Given the description of an element on the screen output the (x, y) to click on. 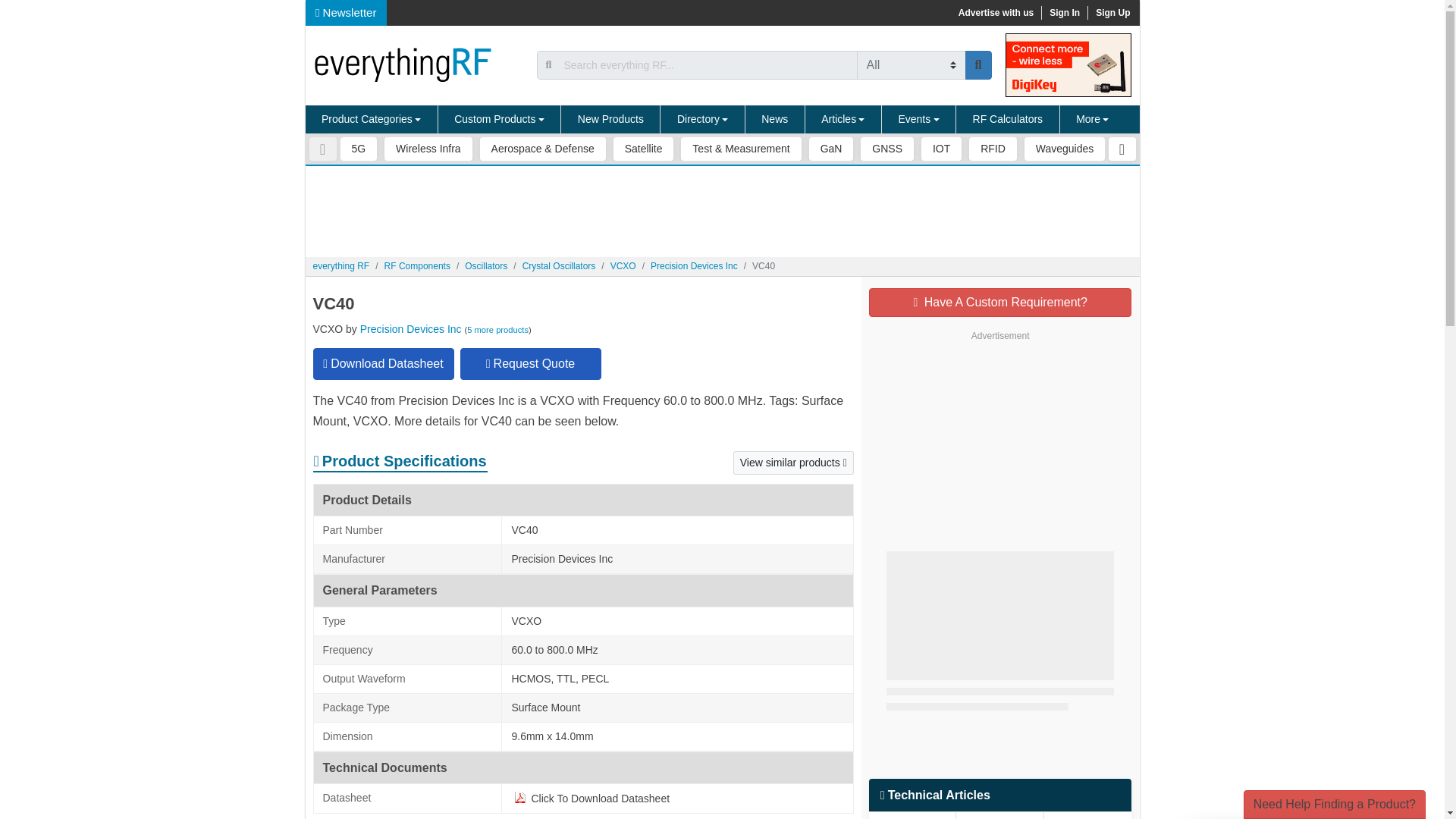
Newsletter (345, 12)
Product Categories (371, 119)
Advertise with us (995, 12)
Sign In (1064, 12)
Sign Up (1112, 12)
